Given the description of an element on the screen output the (x, y) to click on. 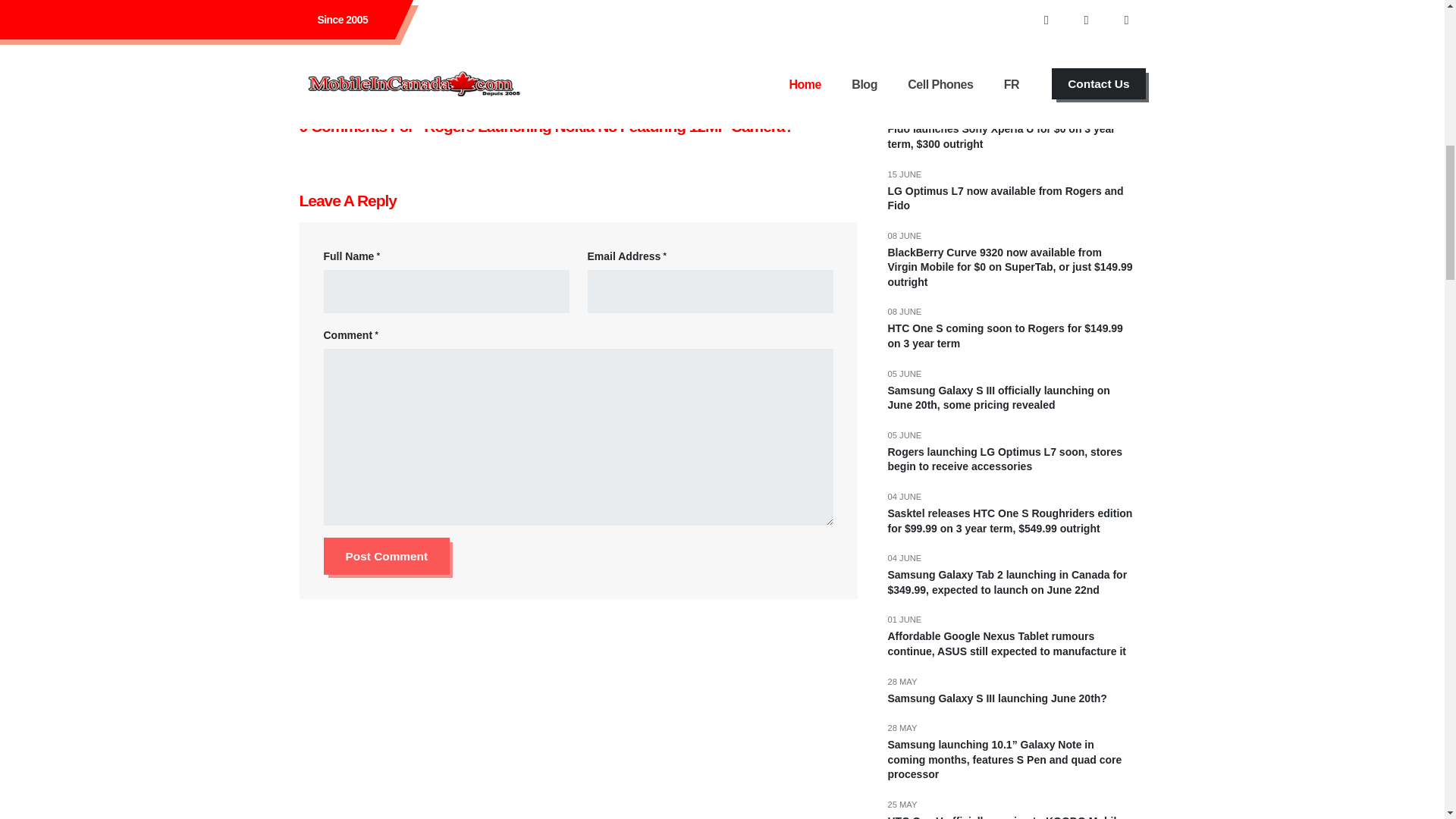
capture (344, 33)
carl (454, 20)
video (310, 33)
megapixel (612, 16)
c8 (442, 33)
720p (774, 14)
flash (535, 17)
mobile (385, 22)
Post Comment (386, 555)
high definition (823, 14)
launch (655, 15)
wireless (423, 21)
display (568, 33)
nokia (419, 33)
canada (348, 23)
